Given the description of an element on the screen output the (x, y) to click on. 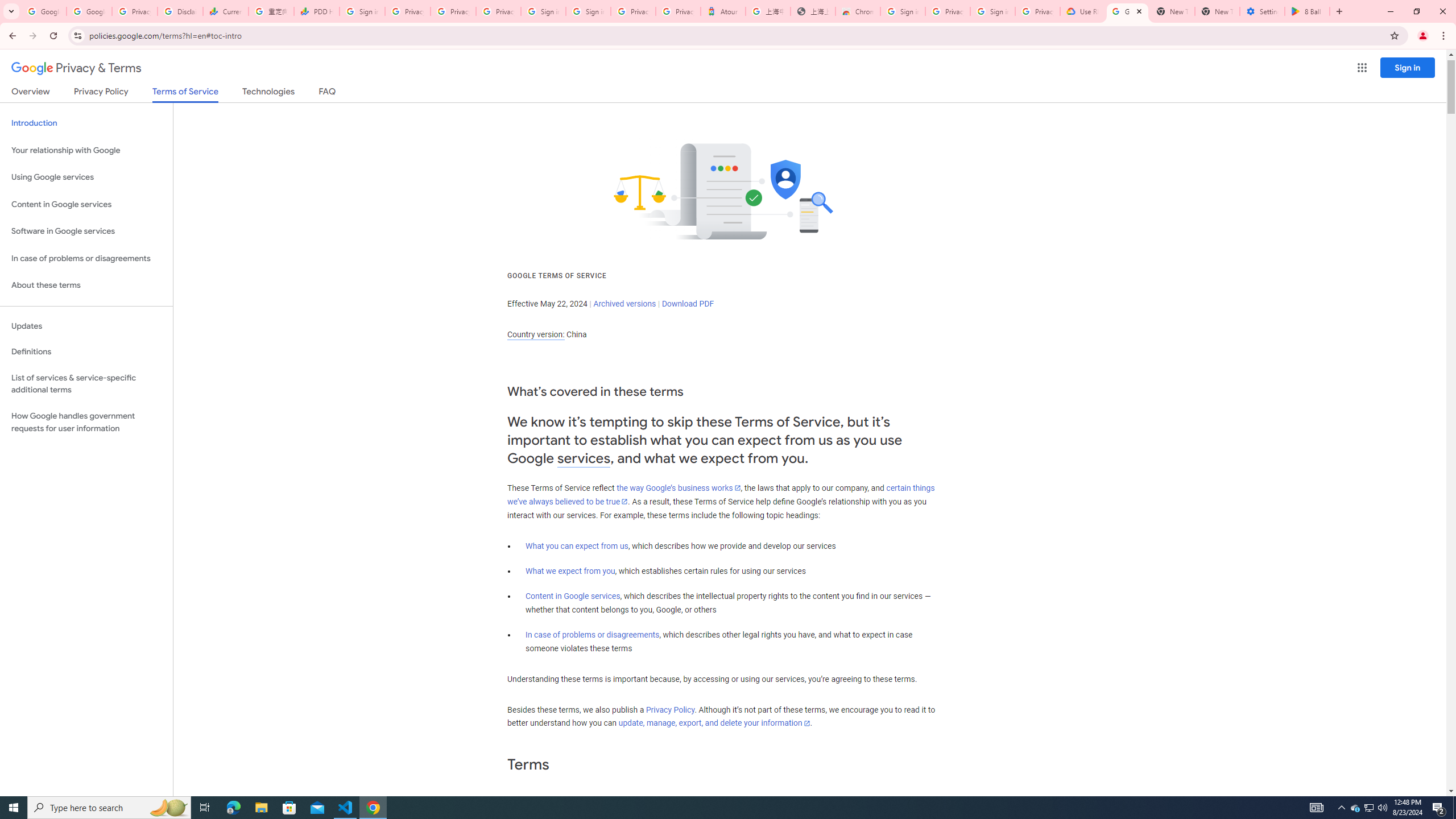
Microsoft Edge (767, 800)
edit (1405, 481)
symbol_LLM.pdf (1210, 102)
2401.17399v1.pdf (1340, 26)
Symbol-llm-v2.pdf (1275, 102)
2403.02502v1.pdf (1340, 102)
